Given the description of an element on the screen output the (x, y) to click on. 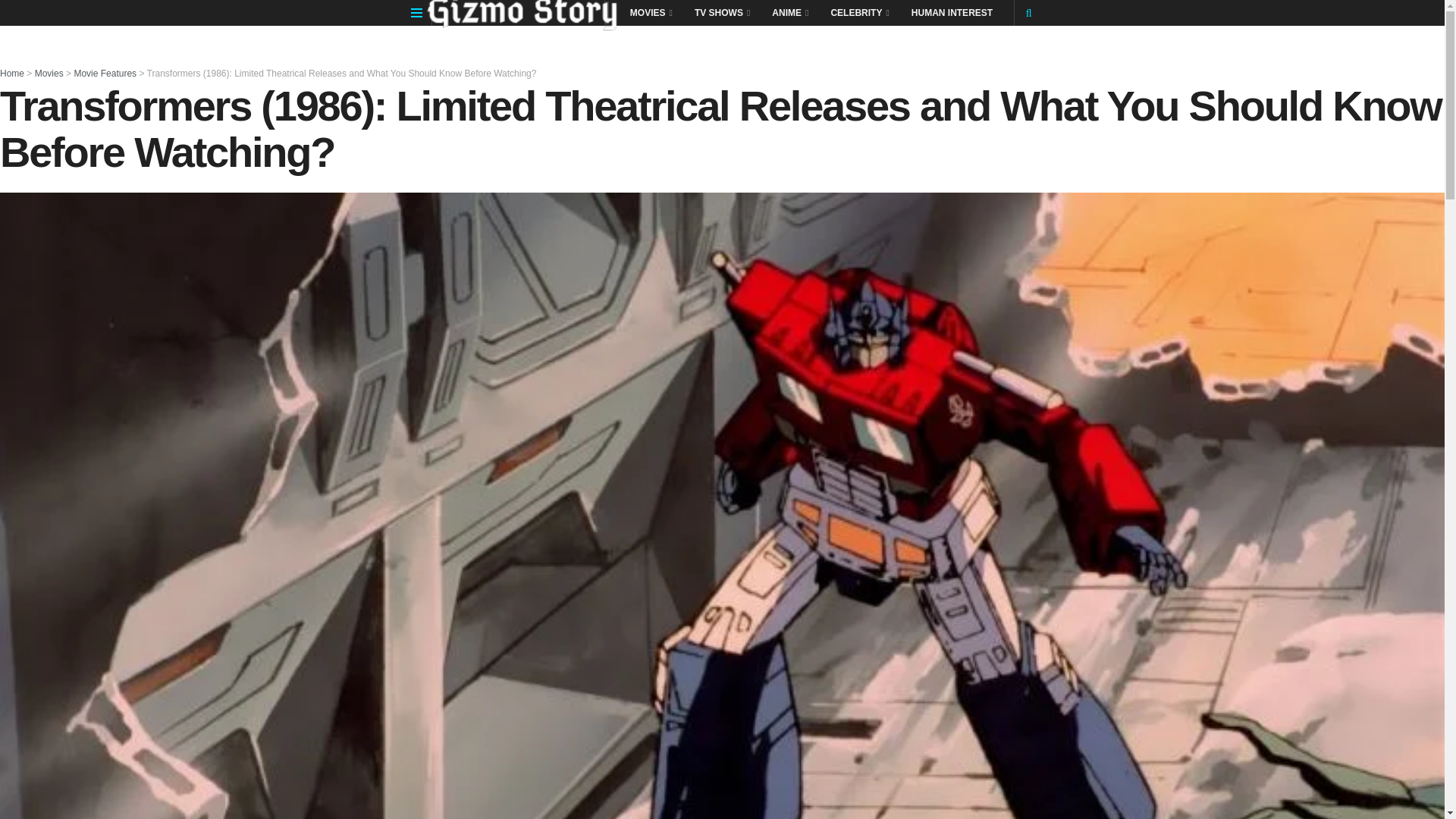
TV SHOWS (721, 12)
ANIME (789, 12)
HUMAN INTEREST (951, 12)
MOVIES (649, 12)
Go to the Movies Category archives. (49, 72)
CELEBRITY (858, 12)
Go to Gizmo Story. (12, 72)
Go to the Movie Features Category archives. (105, 72)
